Given the description of an element on the screen output the (x, y) to click on. 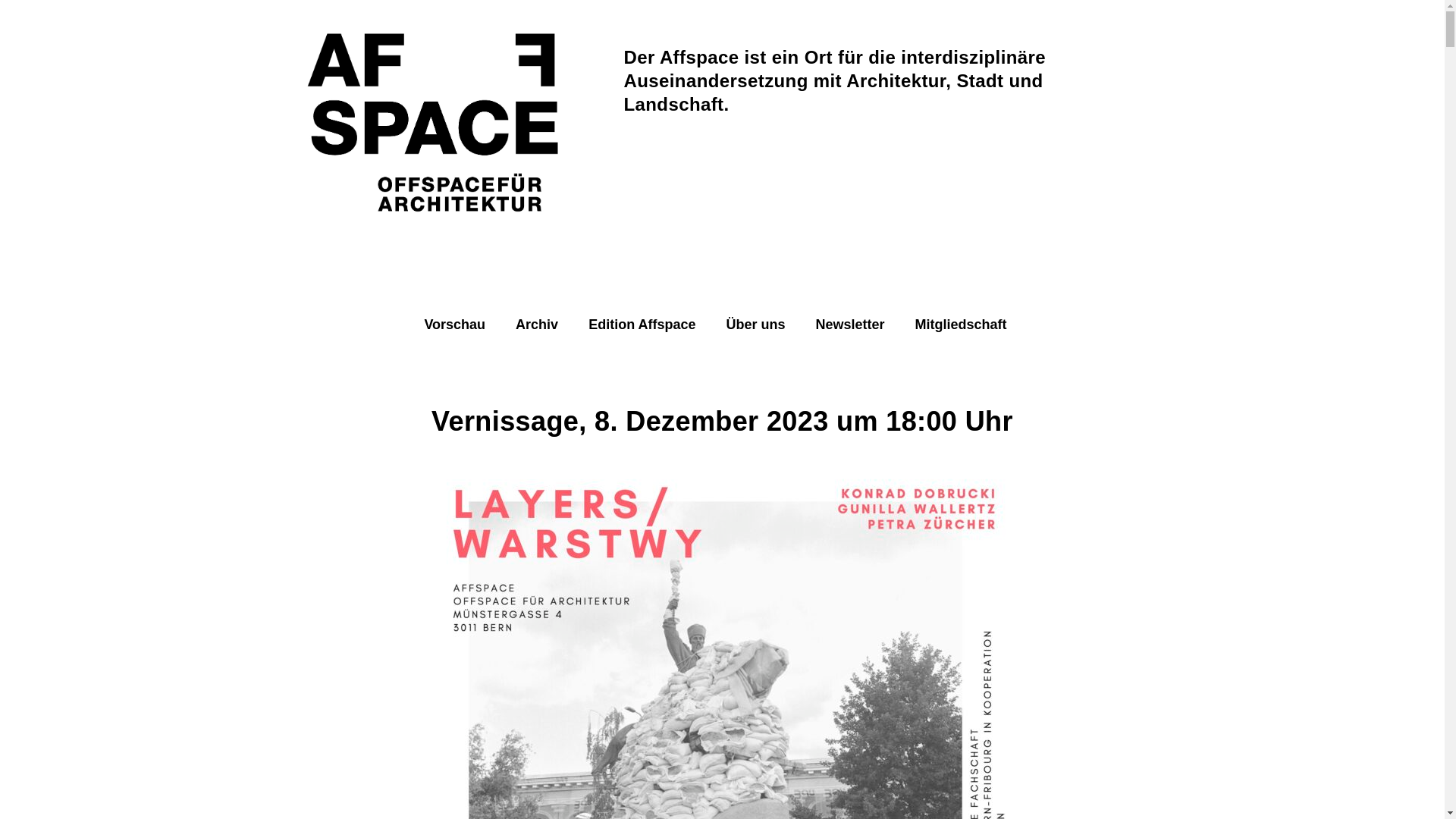
Mitgliedschaft Element type: text (961, 324)
Edition Affspace Element type: text (641, 324)
Newsletter Element type: text (850, 324)
Archiv Element type: text (536, 324)
Vorschau Element type: text (454, 324)
